Given the description of an element on the screen output the (x, y) to click on. 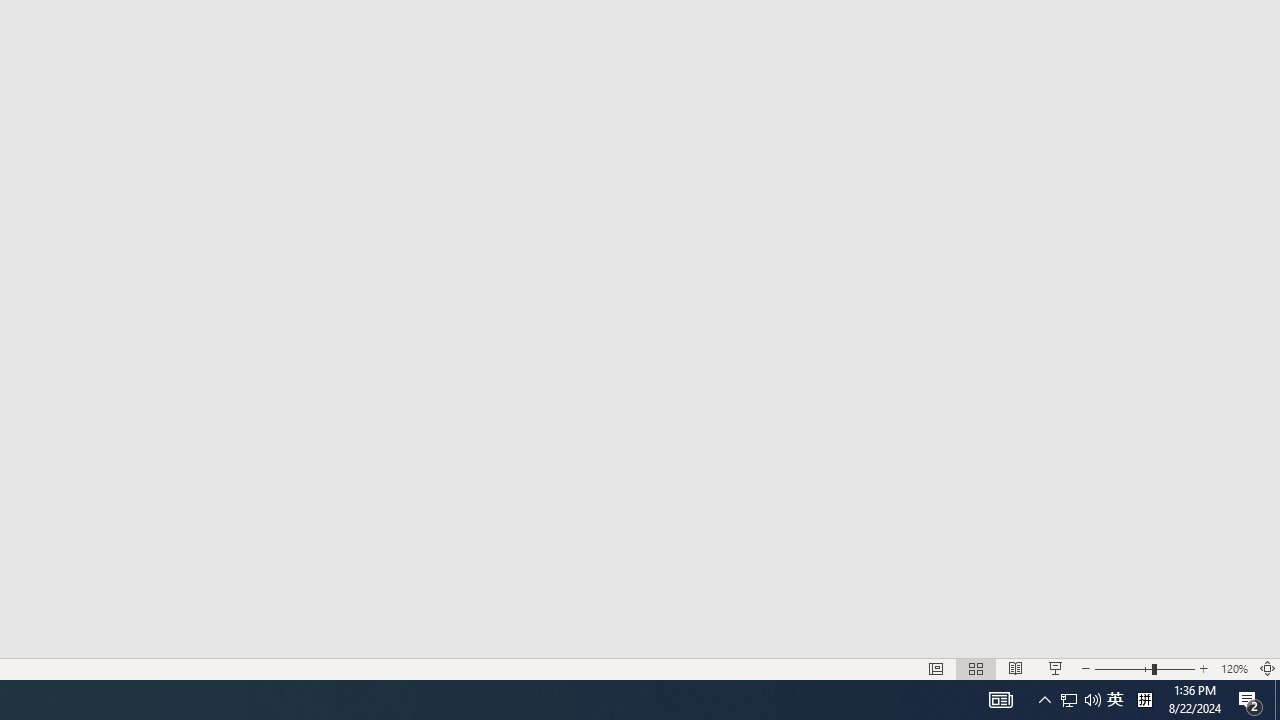
Zoom 120% (1234, 668)
